Given the description of an element on the screen output the (x, y) to click on. 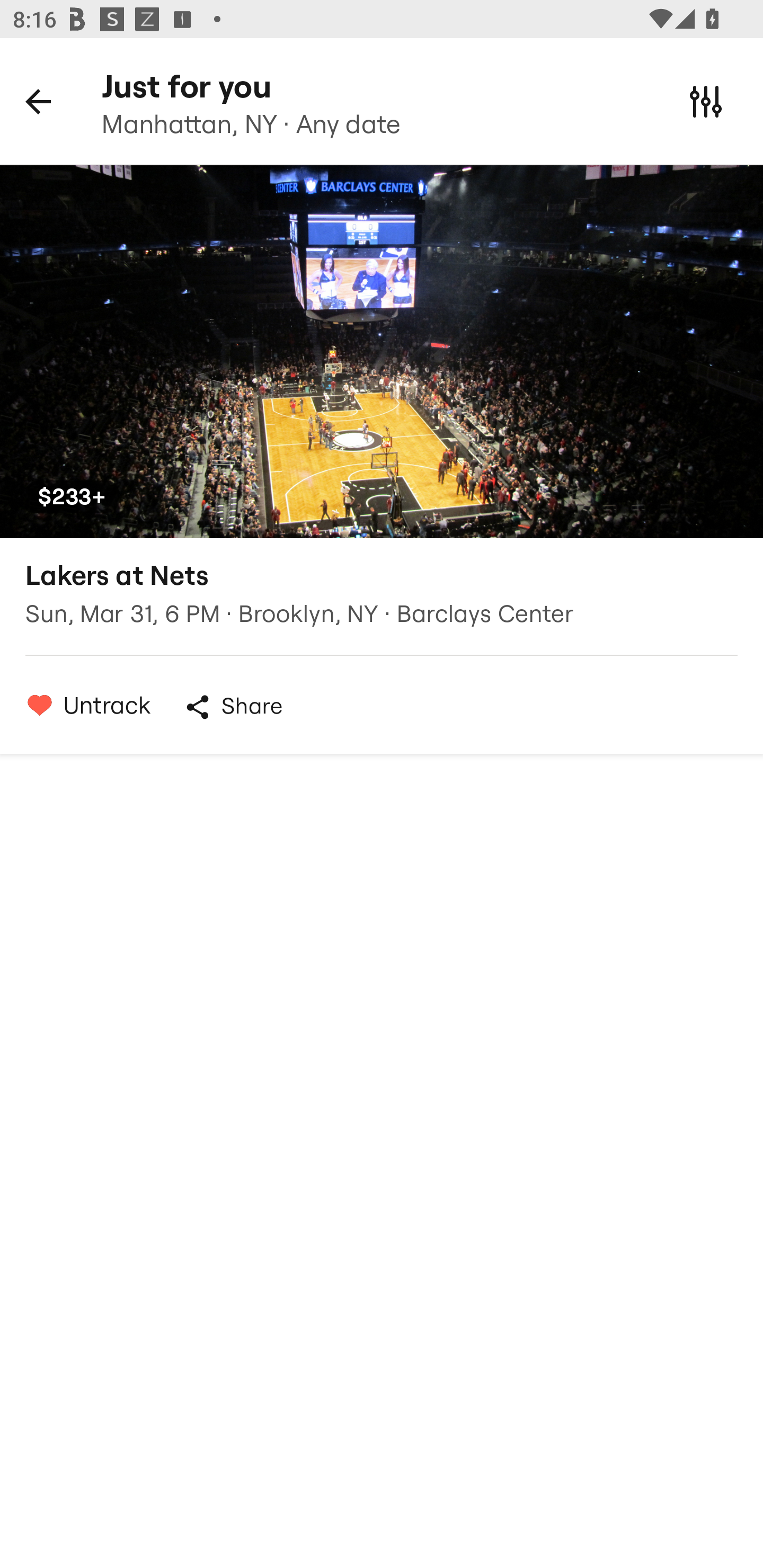
Back (38, 100)
Filters (705, 100)
Untrack (83, 704)
Share (233, 706)
